Given the description of an element on the screen output the (x, y) to click on. 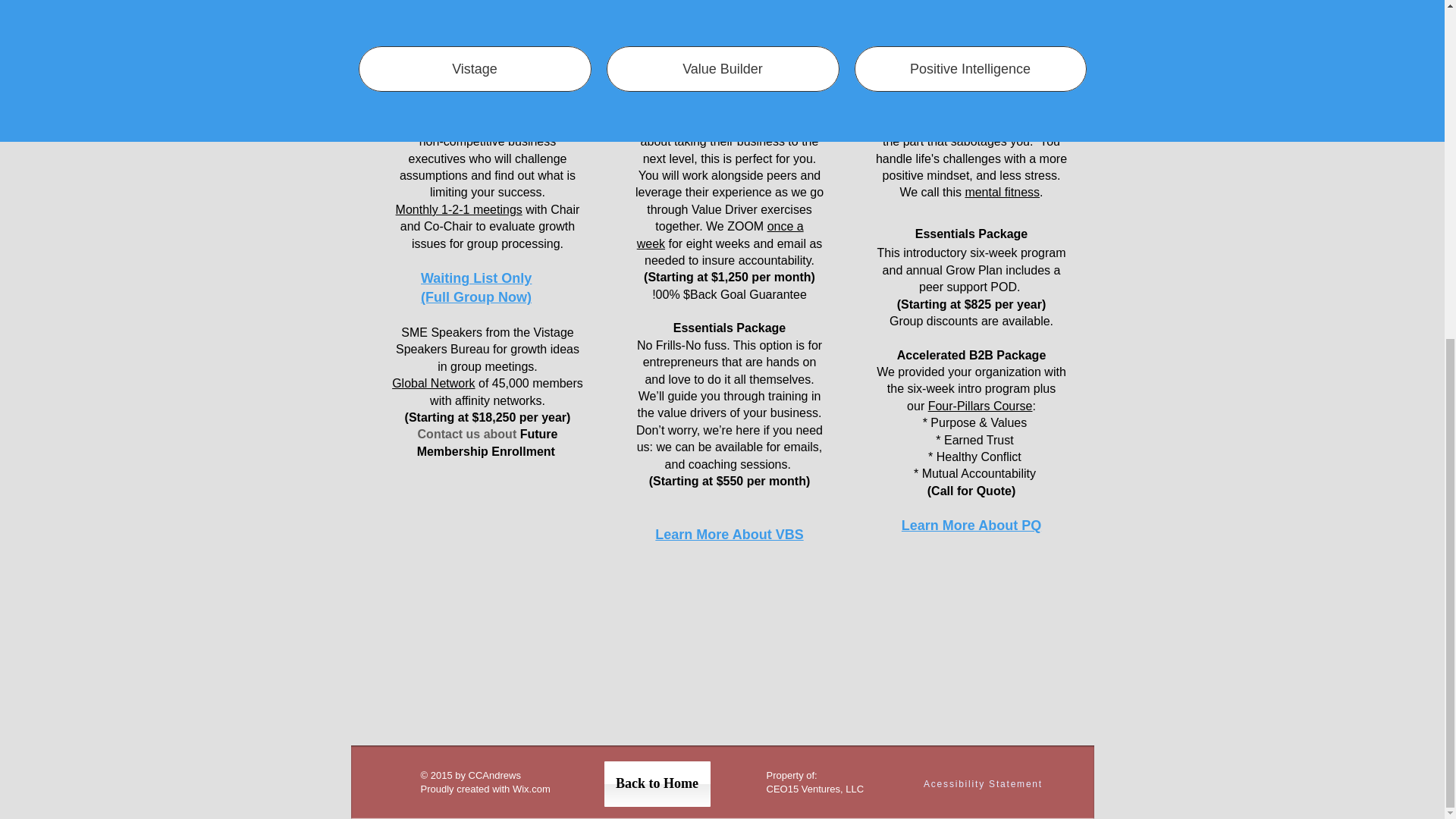
Wix.com      (538, 788)
Learn More About VBS (729, 534)
Acessibility Statement (983, 783)
Waiting List Only (475, 278)
Back to Home (657, 783)
Learn More About PQ (971, 525)
